Given the description of an element on the screen output the (x, y) to click on. 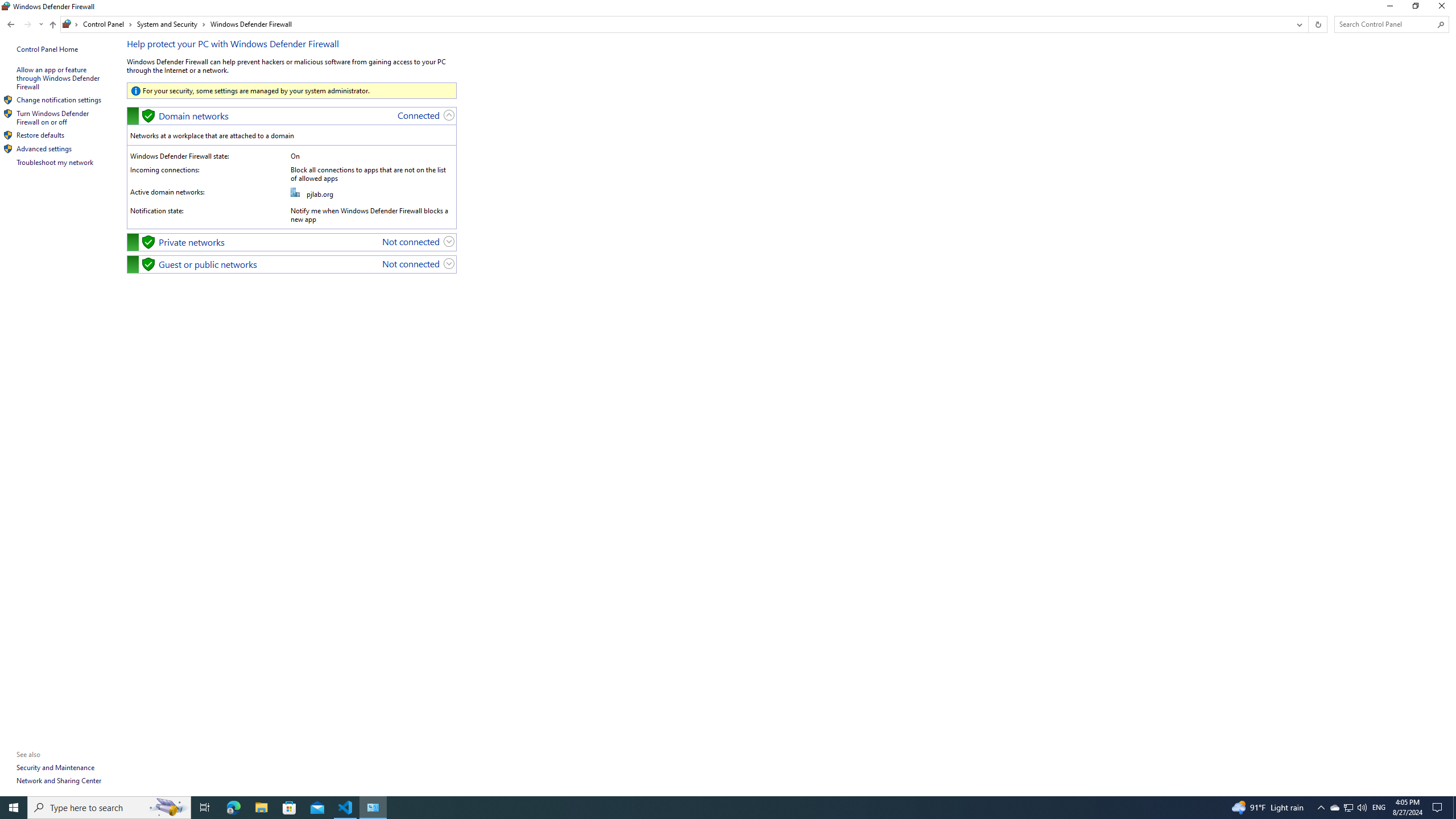
System and Security (171, 23)
Microsoft Edge (233, 807)
Troubleshoot my network (55, 162)
System (1347, 807)
Navigation buttons (6, 6)
Microsoft Store (24, 23)
Q2790: 100% (289, 807)
